Given the description of an element on the screen output the (x, y) to click on. 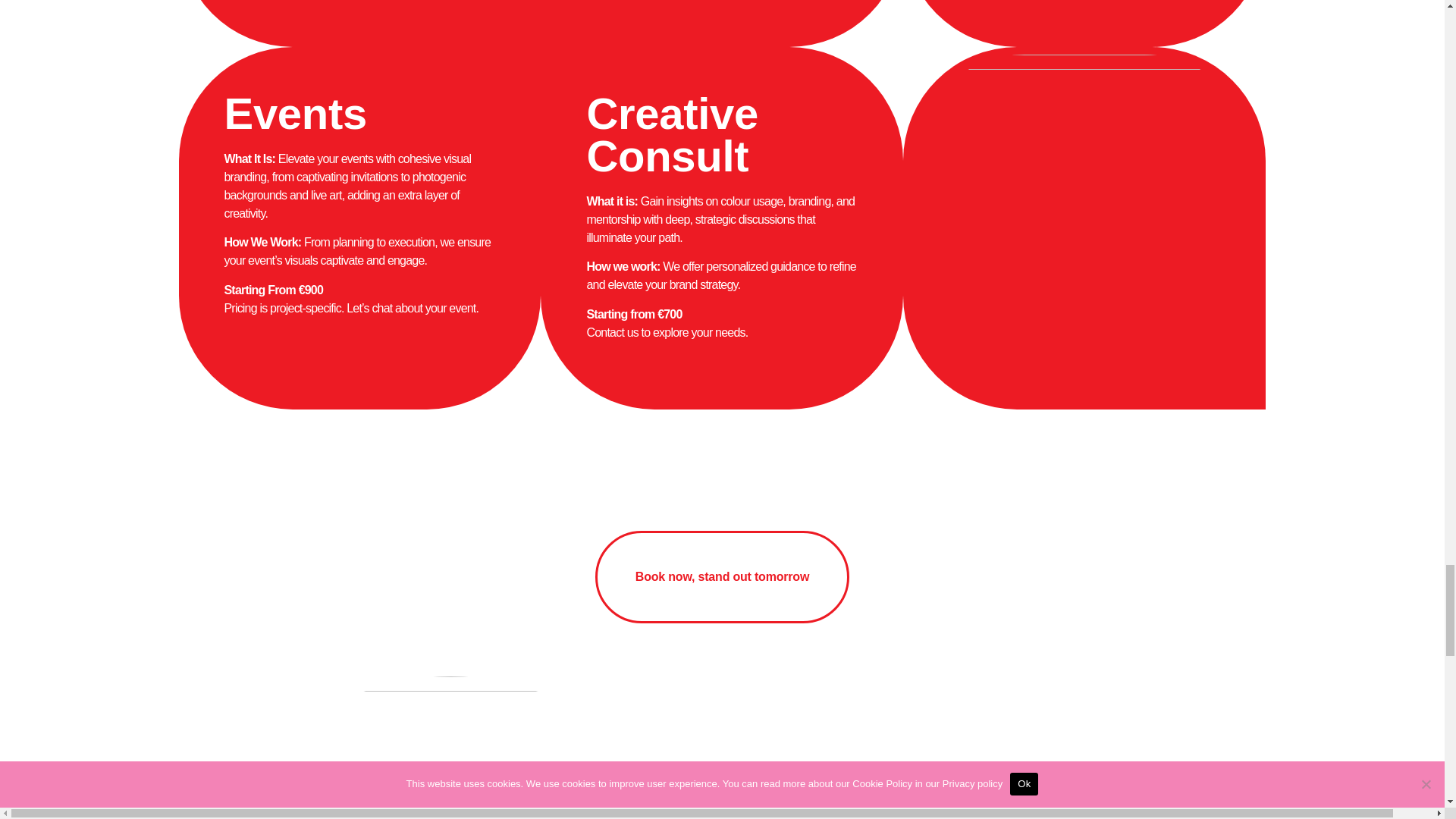
Book now, stand out tomorrow (721, 576)
